Given the description of an element on the screen output the (x, y) to click on. 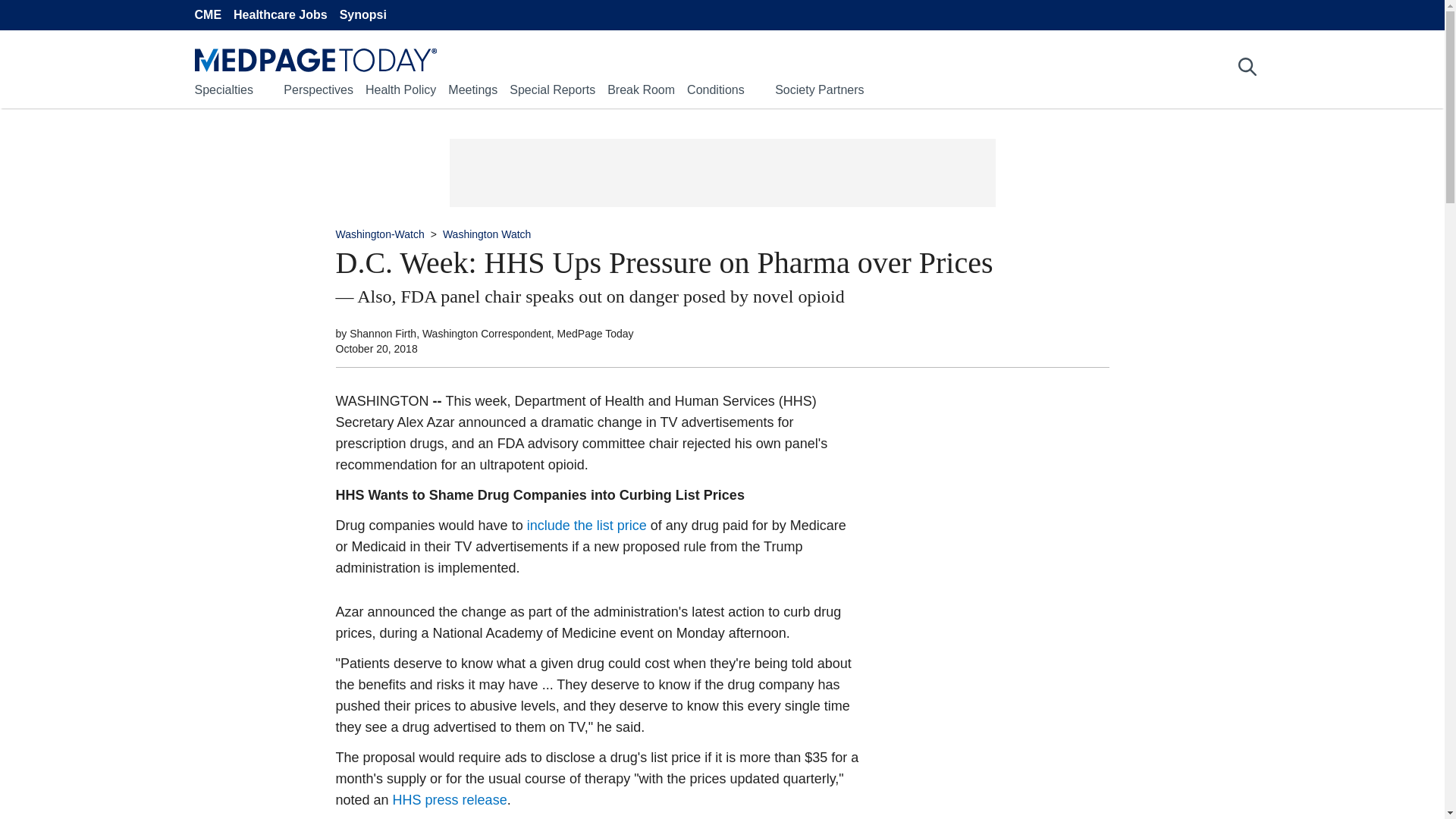
CME (207, 15)
Healthcare Jobs (279, 15)
Specialties (222, 89)
Synopsi (363, 15)
